Given the description of an element on the screen output the (x, y) to click on. 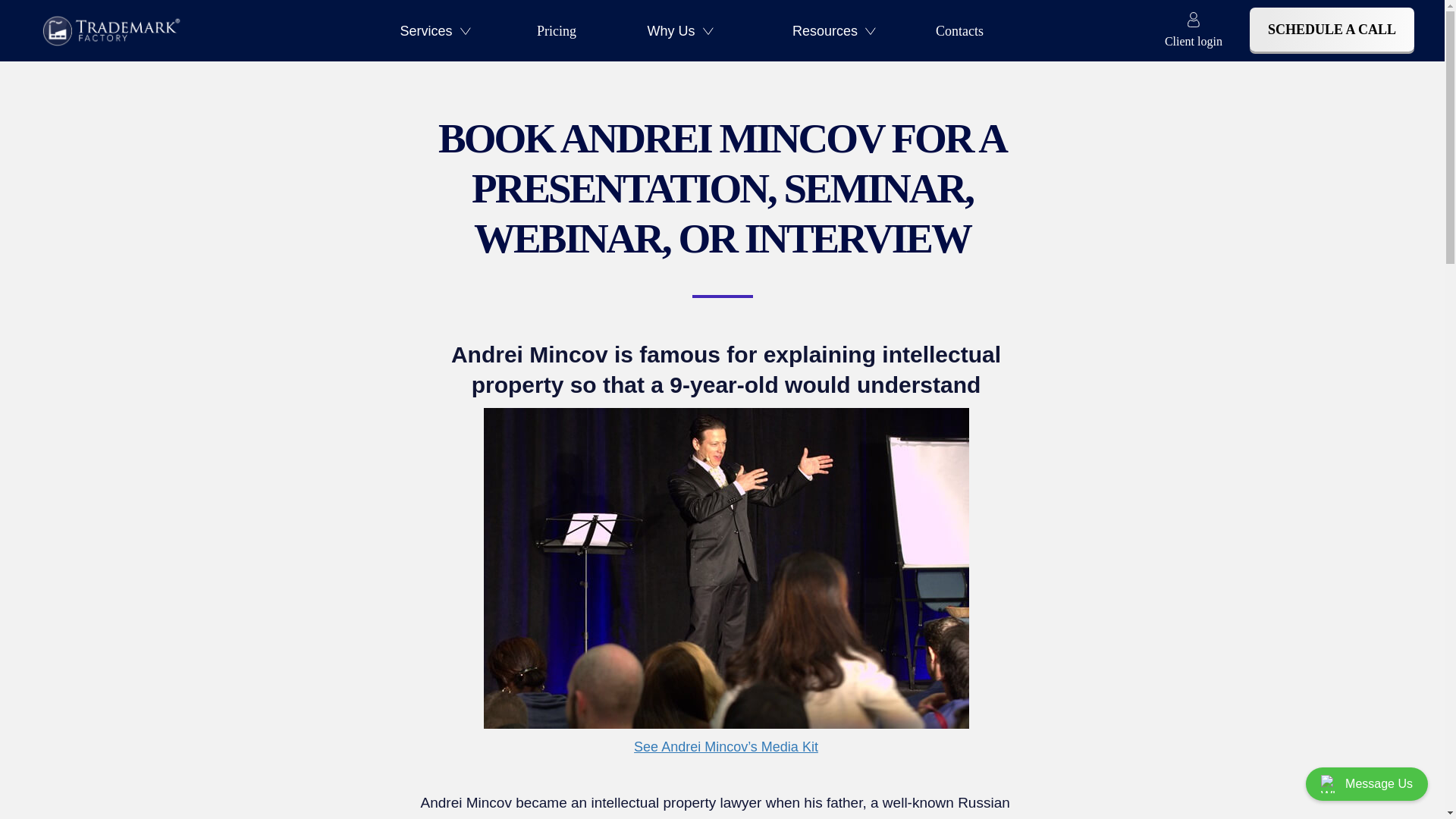
SCHEDULE A CALL (1331, 29)
Contacts (960, 31)
Message Us (1367, 783)
Pricing (556, 31)
Client login (1193, 30)
